Given the description of an element on the screen output the (x, y) to click on. 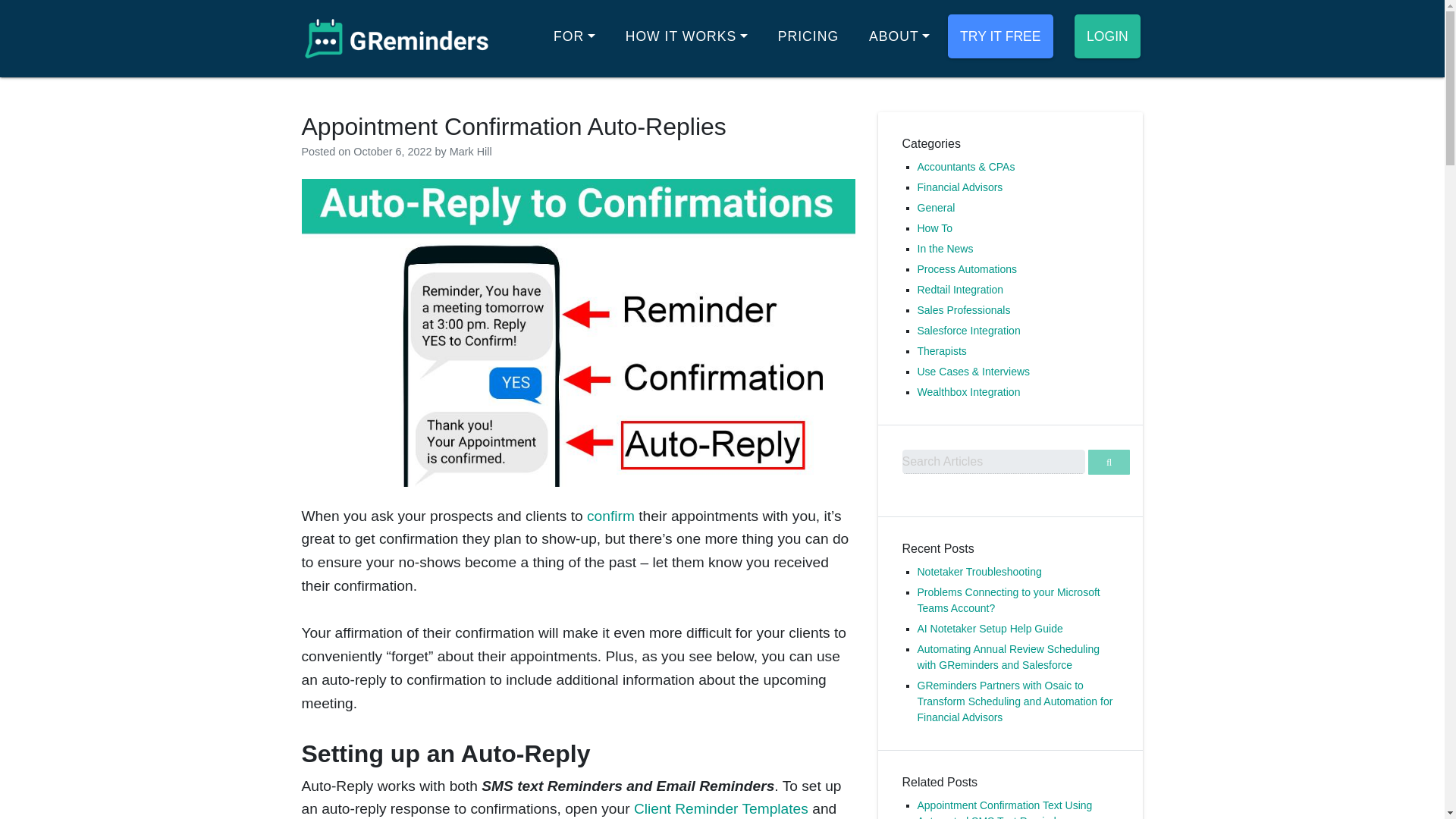
PRICING (807, 36)
HOW IT WORKS (686, 36)
Mark Hill (470, 151)
LOGIN (1107, 36)
confirm (610, 515)
October 6, 2022 (391, 151)
PRICING (807, 36)
FOR (574, 36)
ABOUT (899, 36)
TRY IT FREE (999, 36)
